Given the description of an element on the screen output the (x, y) to click on. 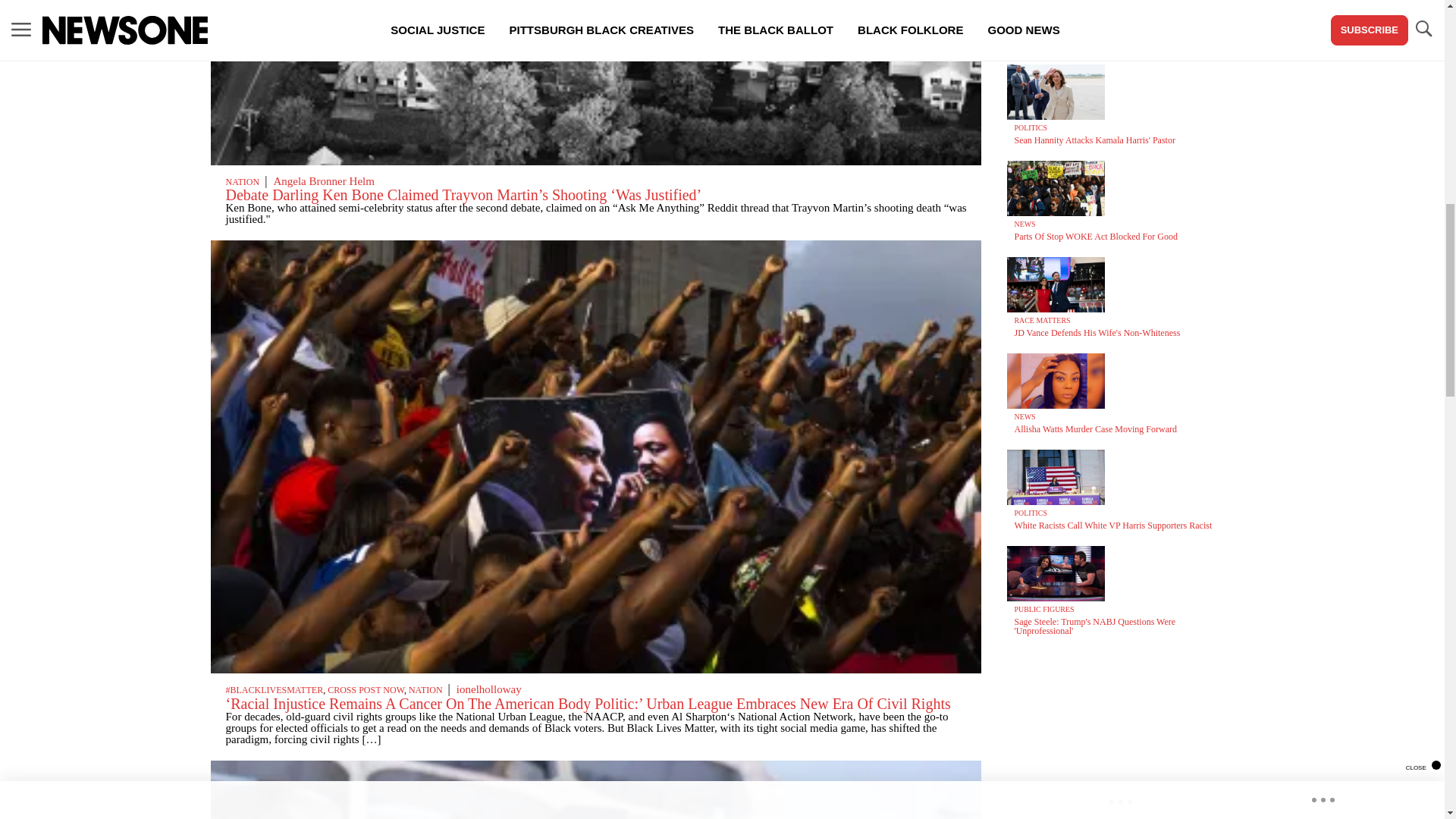
NATION (425, 689)
NATION (242, 181)
CROSS POST NOW (365, 689)
ionelholloway (489, 689)
Angela Bronner Helm (323, 181)
